Given the description of an element on the screen output the (x, y) to click on. 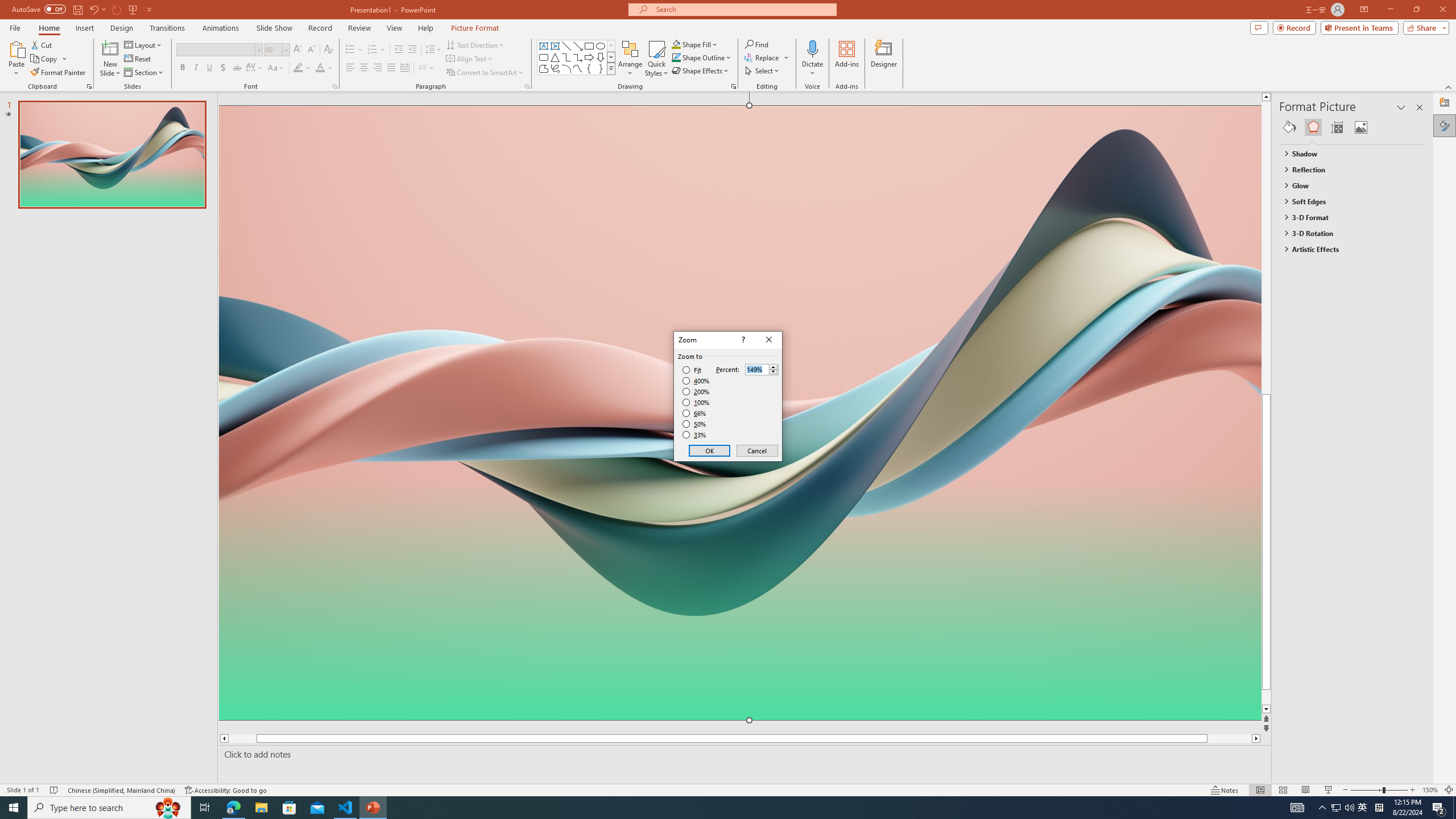
Glow (1347, 185)
Percent (756, 369)
33% (694, 434)
